Given the description of an element on the screen output the (x, y) to click on. 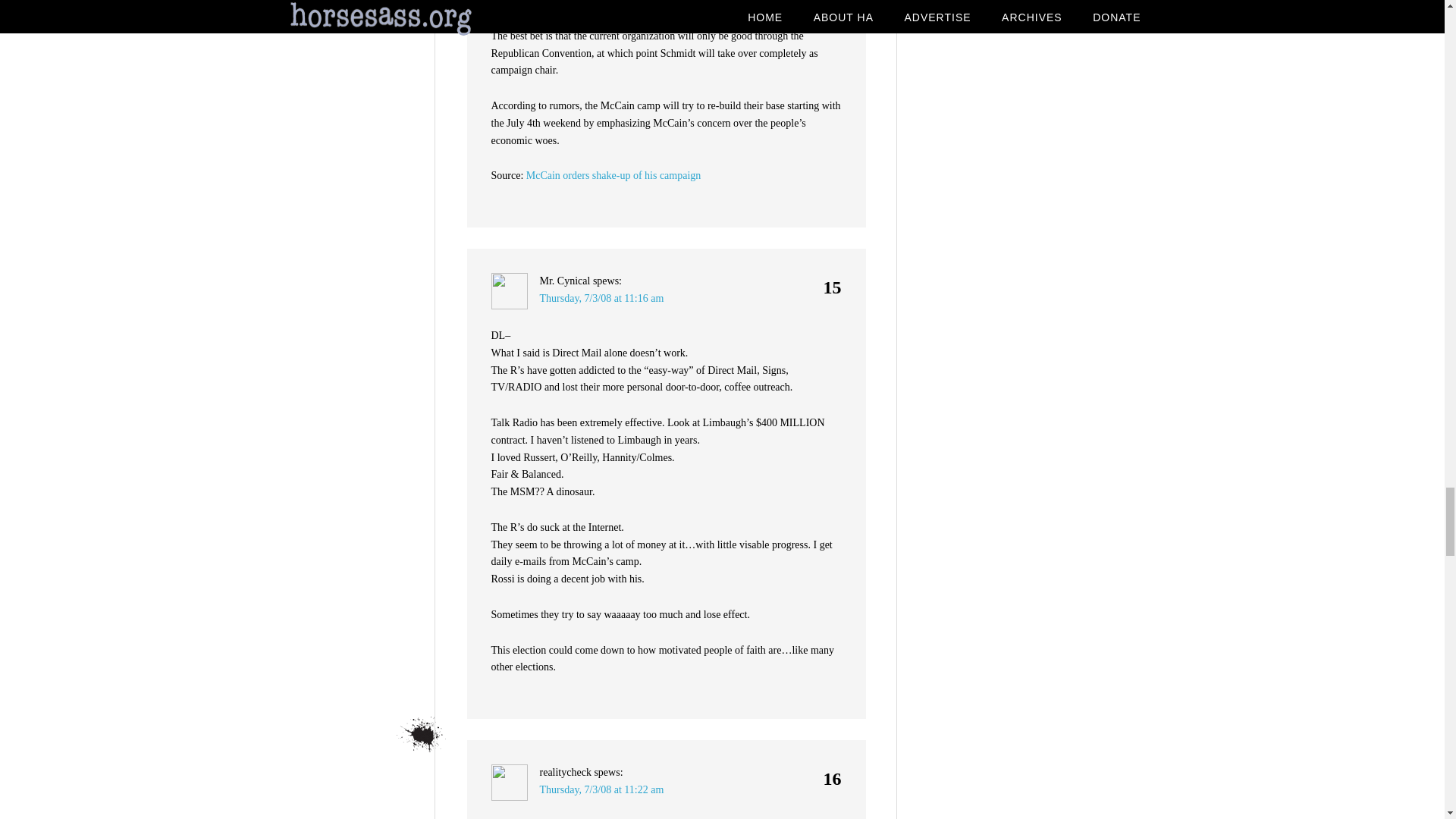
McCain orders shake-up of his campaign (613, 174)
